Given the description of an element on the screen output the (x, y) to click on. 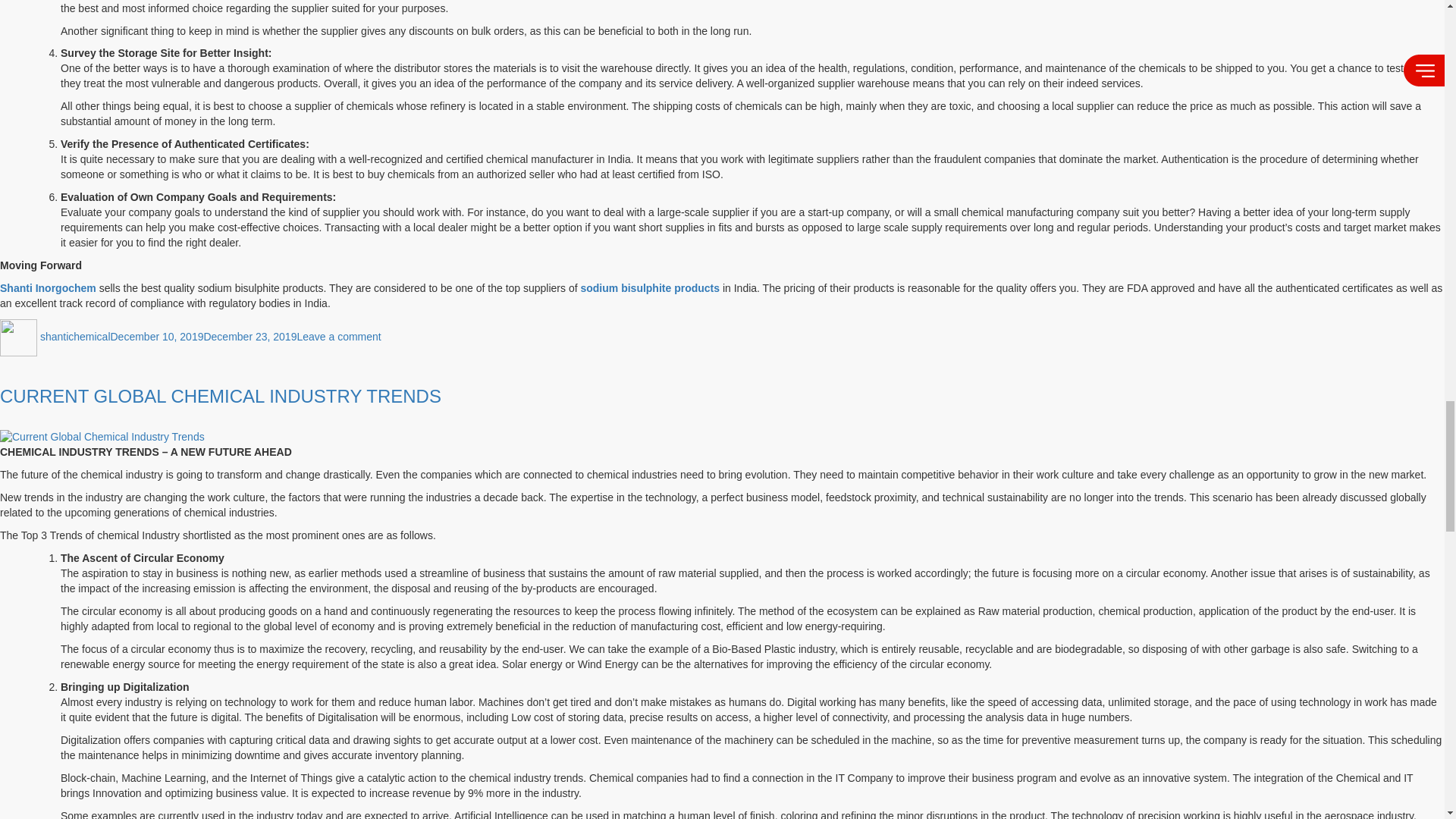
December 10, 2019December 23, 2019 (203, 336)
sodium bisulphite products (650, 287)
Shanti Inorgochem (49, 287)
shantichemical (75, 336)
CURRENT GLOBAL CHEMICAL INDUSTRY TRENDS (338, 336)
